Given the description of an element on the screen output the (x, y) to click on. 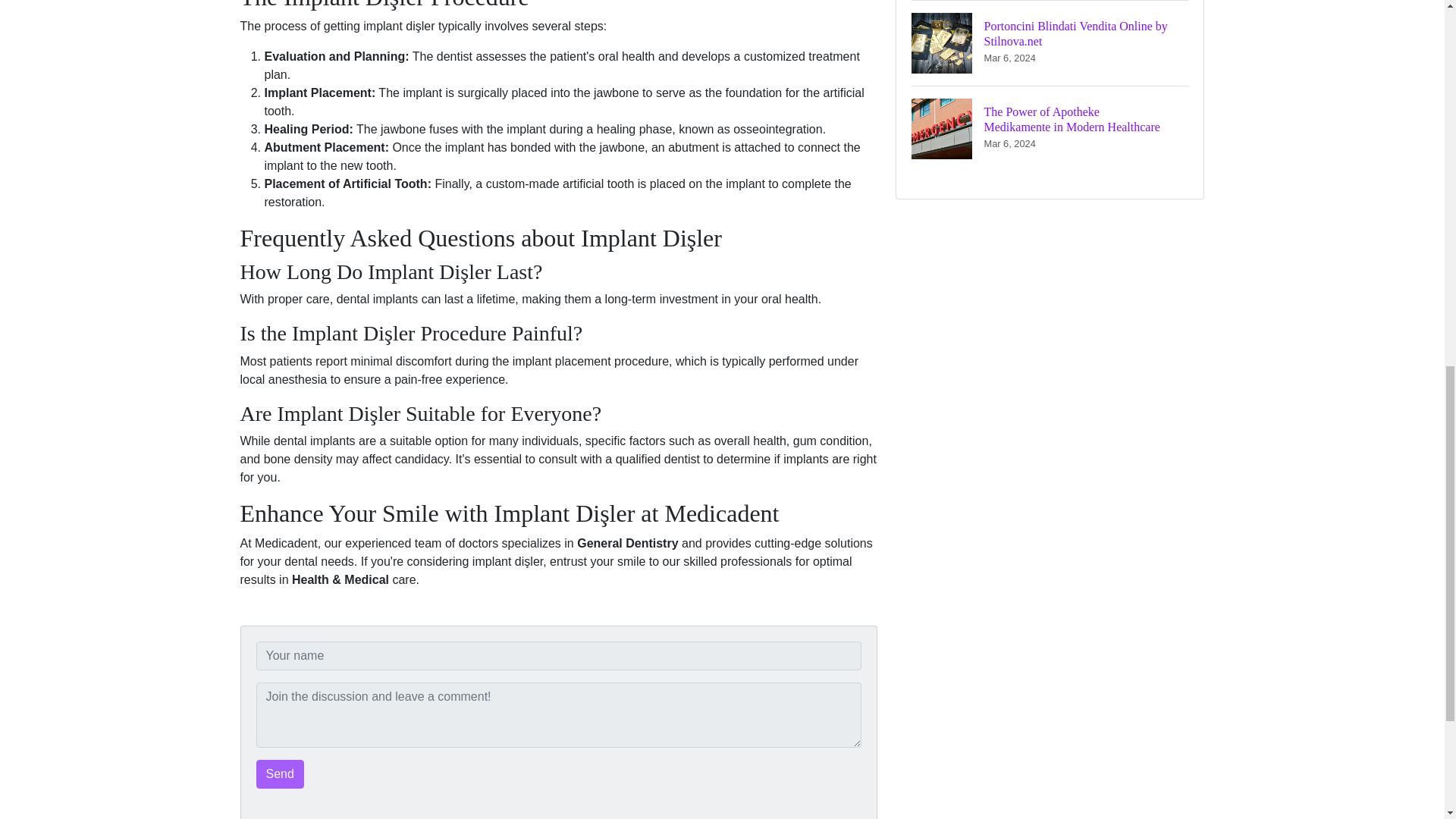
Send (280, 774)
Send (280, 774)
